Given the description of an element on the screen output the (x, y) to click on. 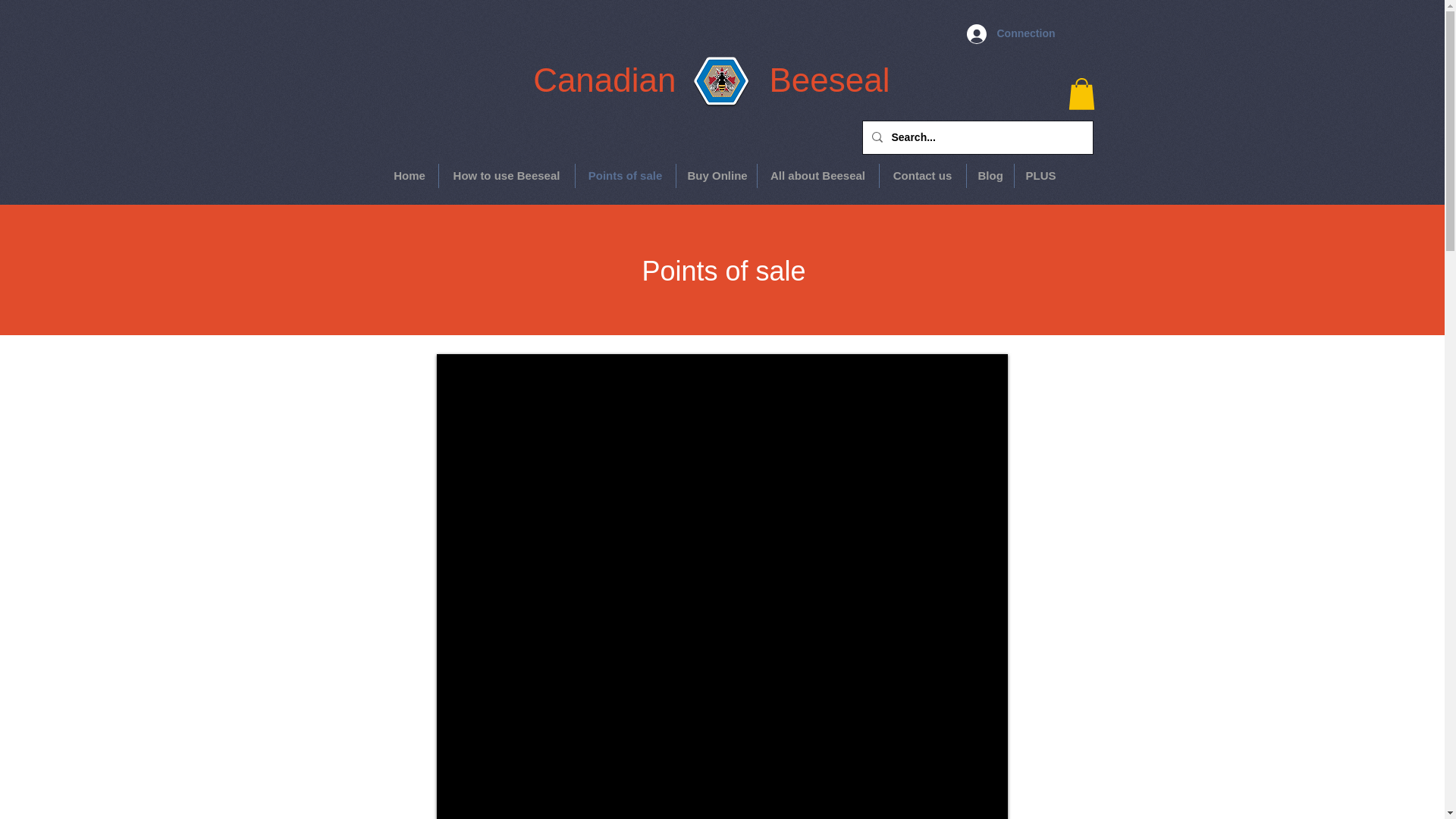
Connection (1009, 33)
Canadian (603, 79)
Beeseal (828, 75)
Home (409, 175)
Blog (989, 175)
Buy Online (717, 175)
Contact us (922, 175)
Points of sale (625, 175)
